Given the description of an element on the screen output the (x, y) to click on. 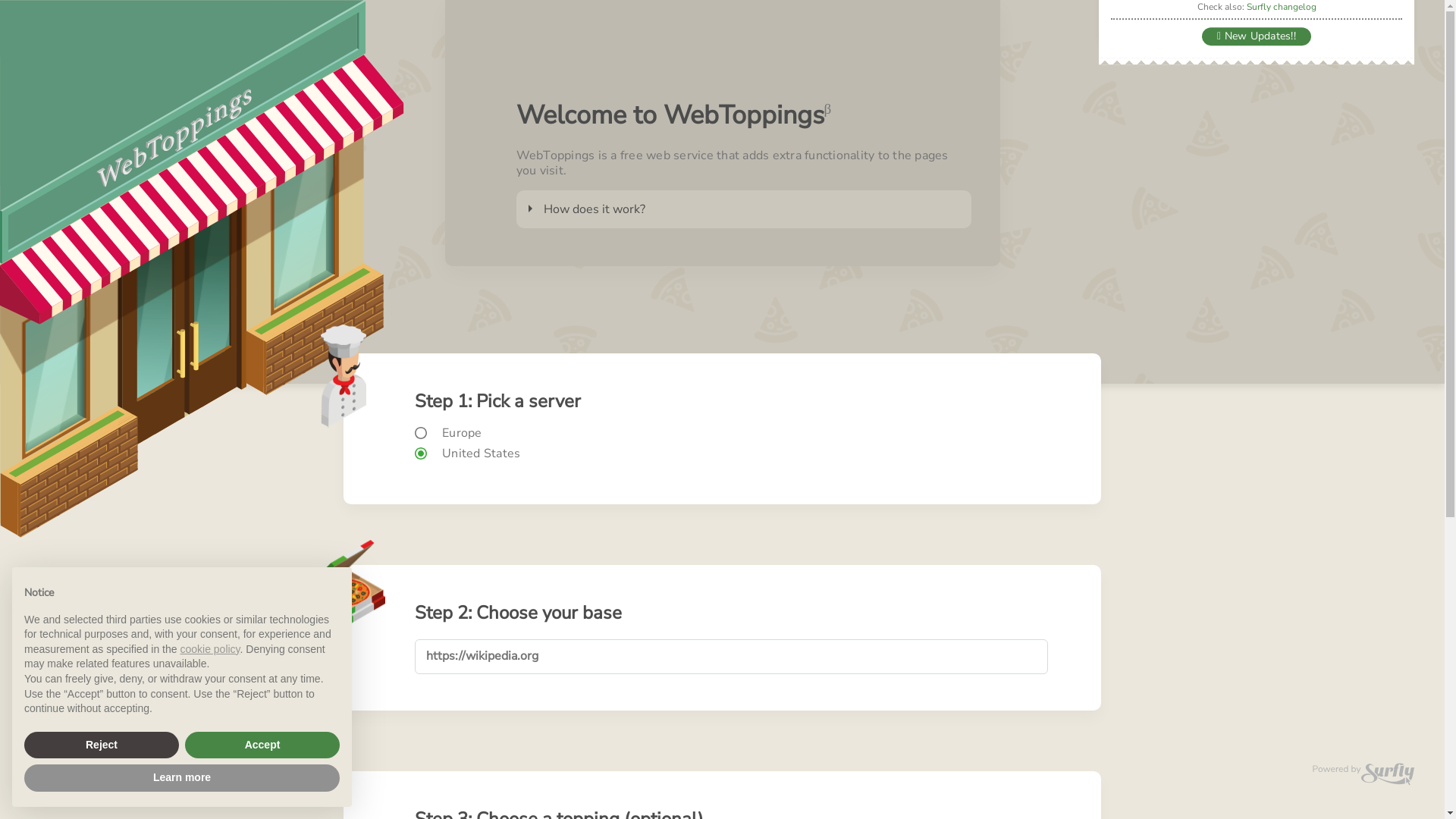
Surfly changelog Element type: text (1281, 7)
cookie policy Element type: text (209, 649)
Accept Element type: text (262, 745)
Reject Element type: text (101, 745)
Learn more Element type: text (181, 777)
